Given the description of an element on the screen output the (x, y) to click on. 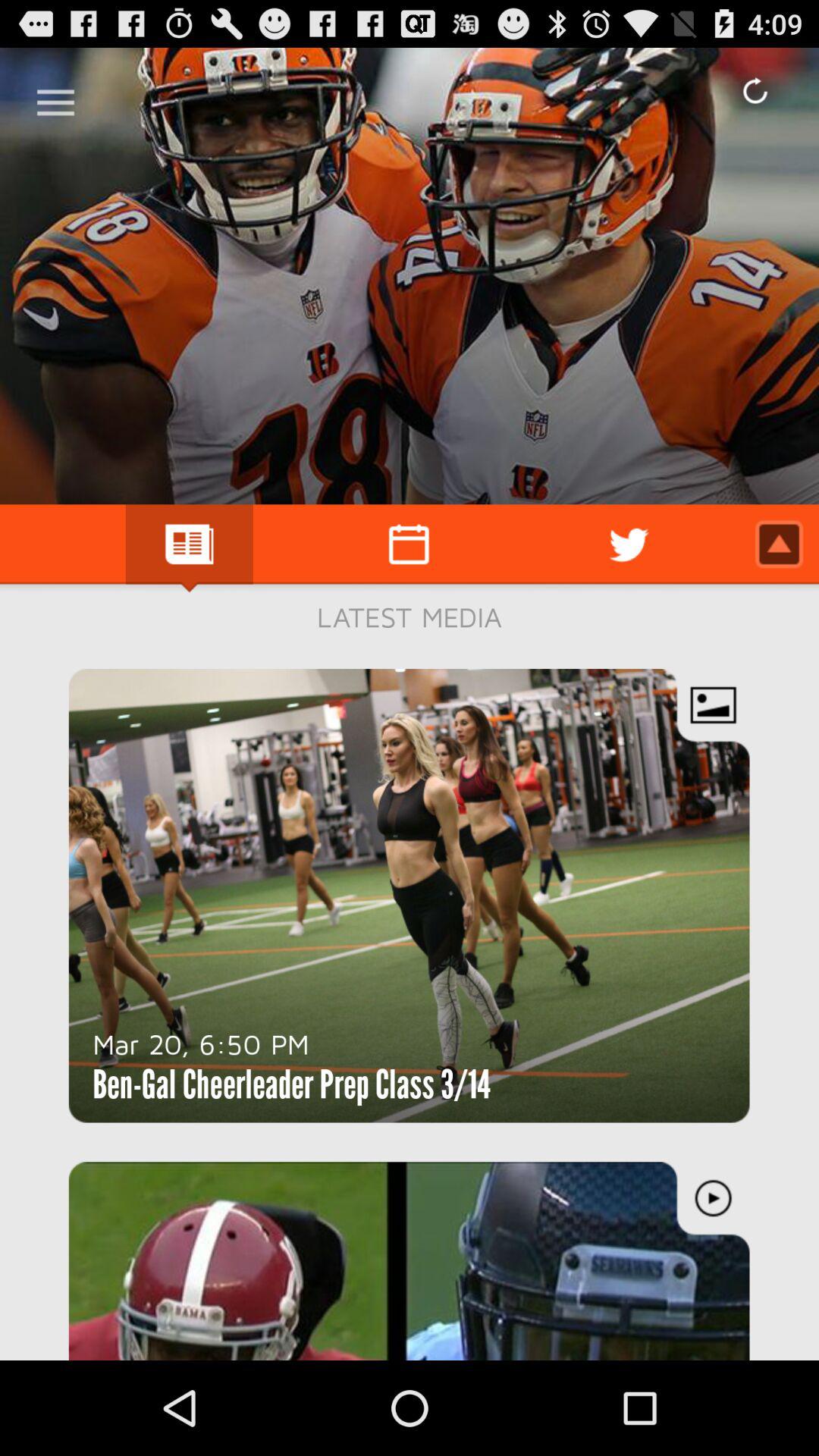
flip to latest media item (409, 616)
